Given the description of an element on the screen output the (x, y) to click on. 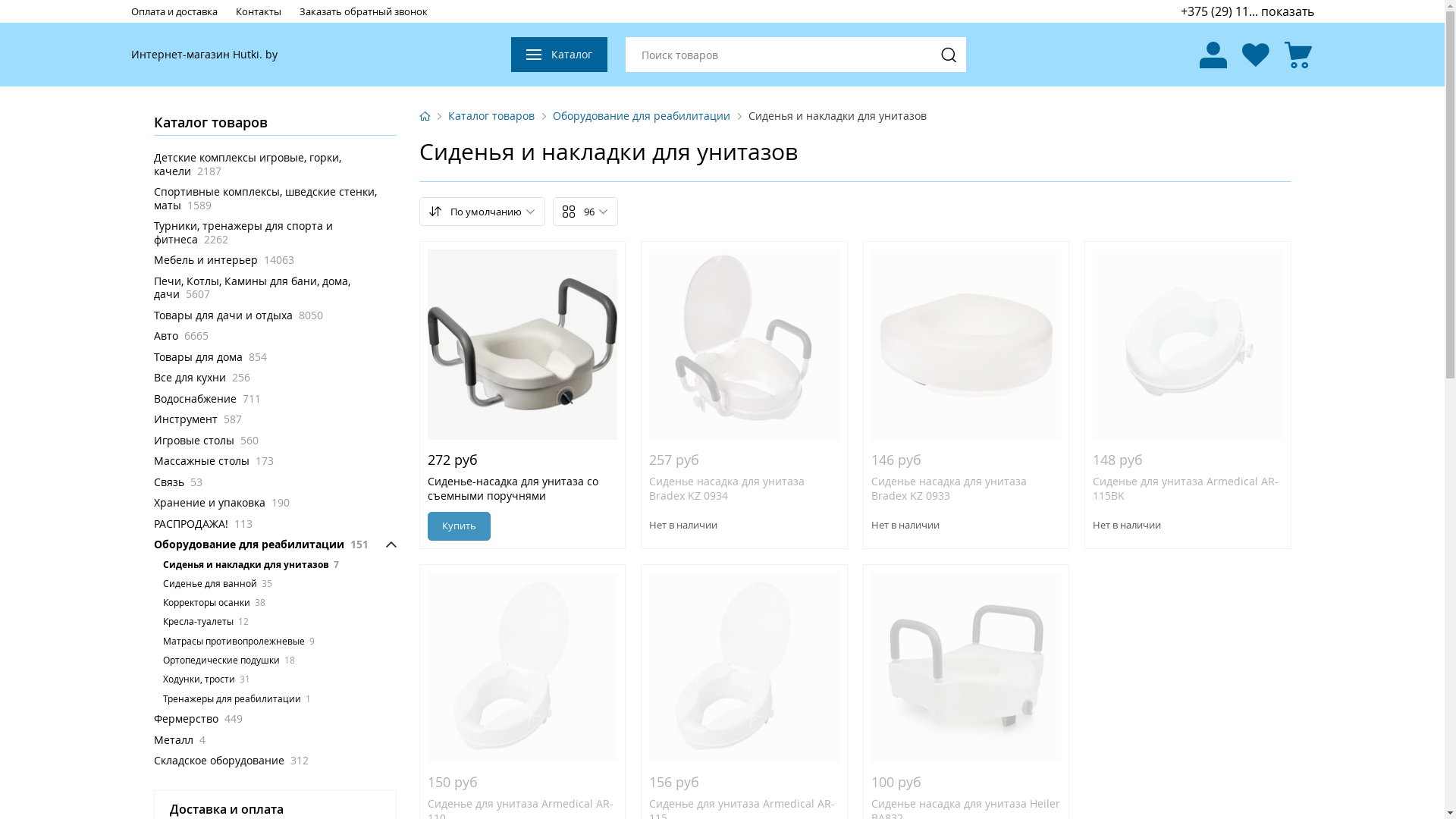
96 Element type: text (584, 211)
